Given the description of an element on the screen output the (x, y) to click on. 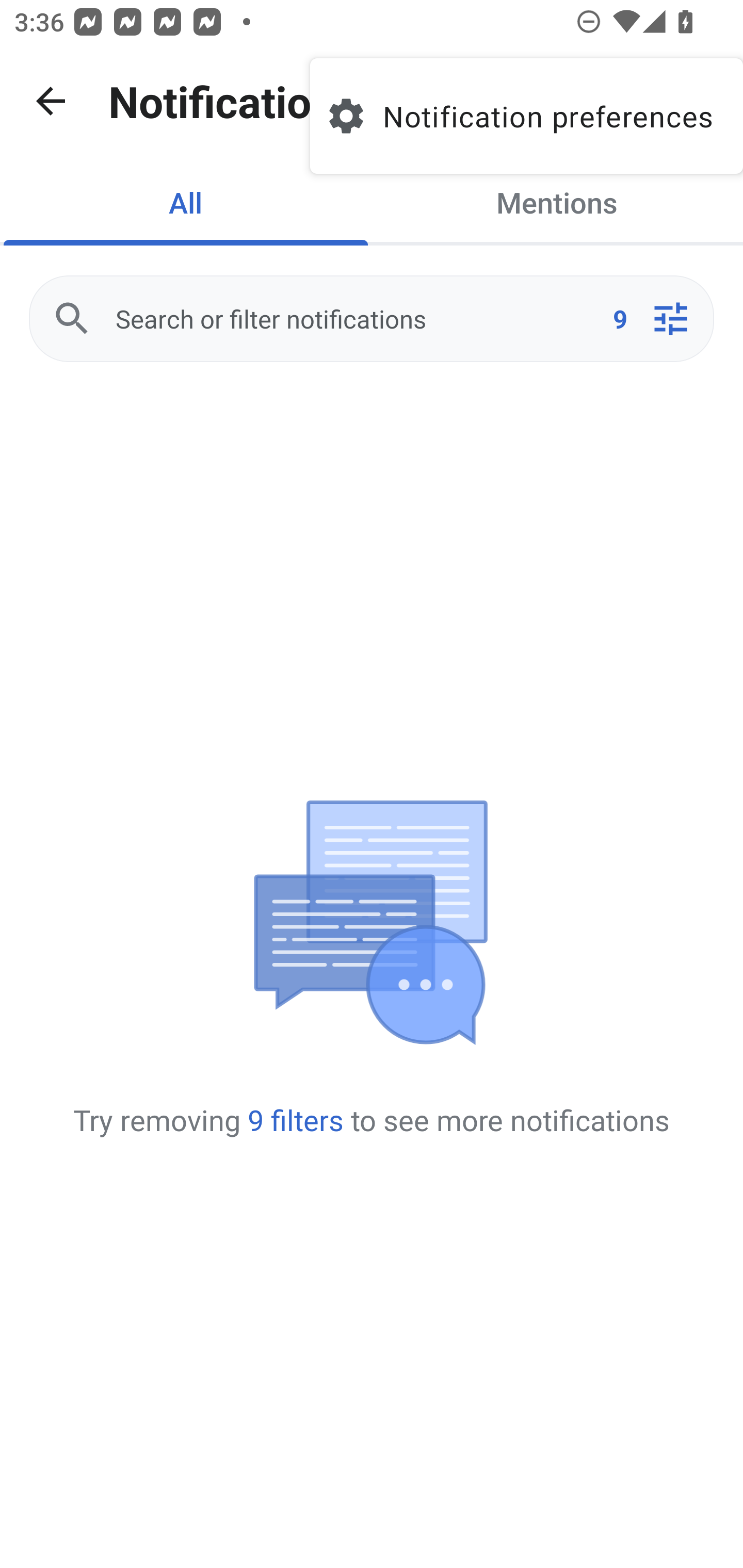
Notification preferences (526, 115)
